Given the description of an element on the screen output the (x, y) to click on. 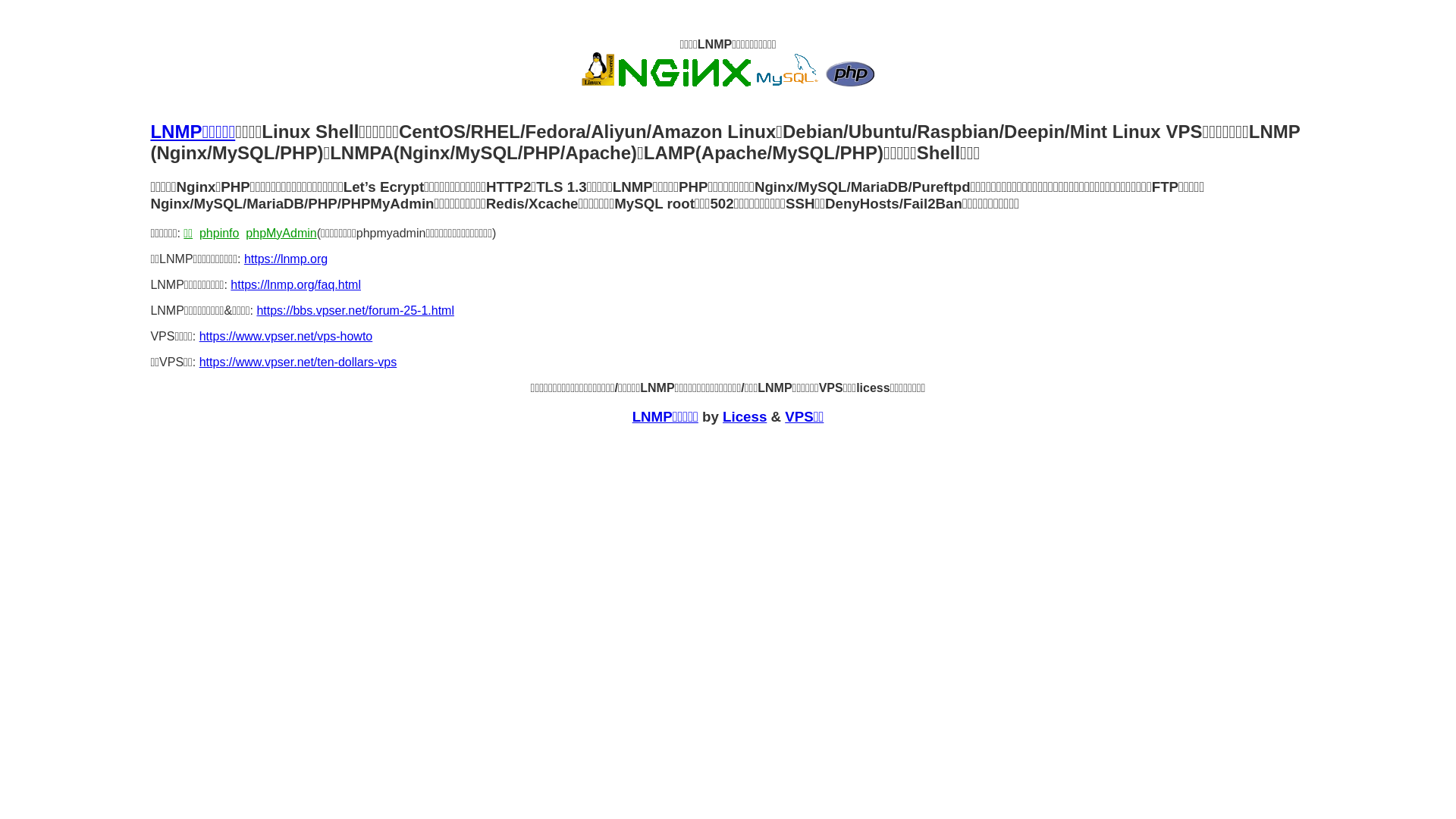
https://www.vpser.net/ten-dollars-vps Element type: text (298, 361)
https://www.vpser.net/vps-howto Element type: text (286, 335)
phpinfo Element type: text (219, 232)
https://bbs.vpser.net/forum-25-1.html Element type: text (355, 310)
https://lnmp.org Element type: text (285, 258)
phpMyAdmin Element type: text (280, 232)
https://lnmp.org/faq.html Element type: text (295, 284)
Licess Element type: text (744, 416)
